Given the description of an element on the screen output the (x, y) to click on. 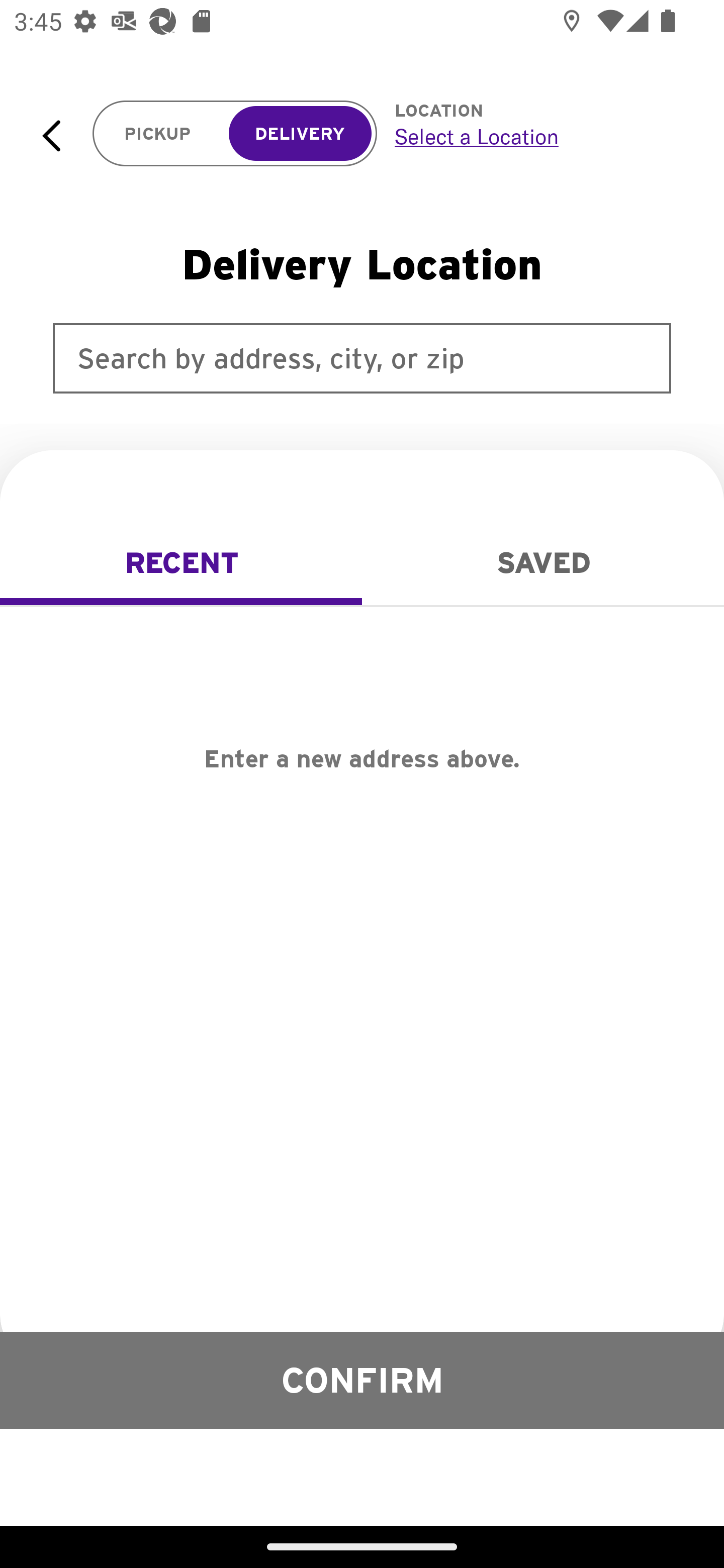
PICKUP (157, 133)
DELIVERY (299, 133)
Select a Location (536, 136)
Search by address, city, or zip (361, 358)
Saved SAVED (543, 562)
CONFIRM (362, 1379)
